Given the description of an element on the screen output the (x, y) to click on. 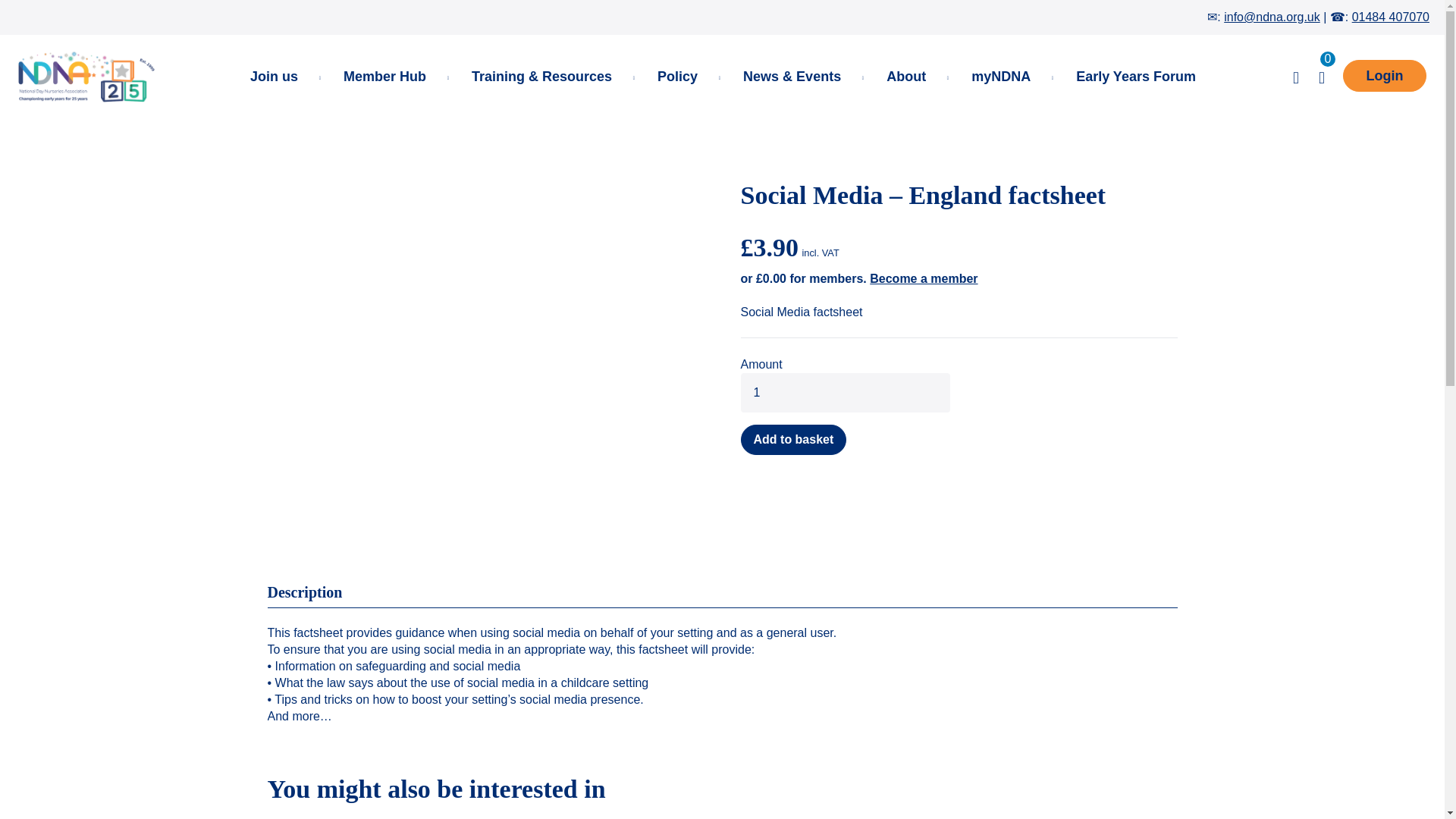
Join us (273, 76)
1 (844, 392)
01484 407070 (1390, 16)
Policy (677, 76)
Qty (844, 392)
Member Hub (385, 76)
